Given the description of an element on the screen output the (x, y) to click on. 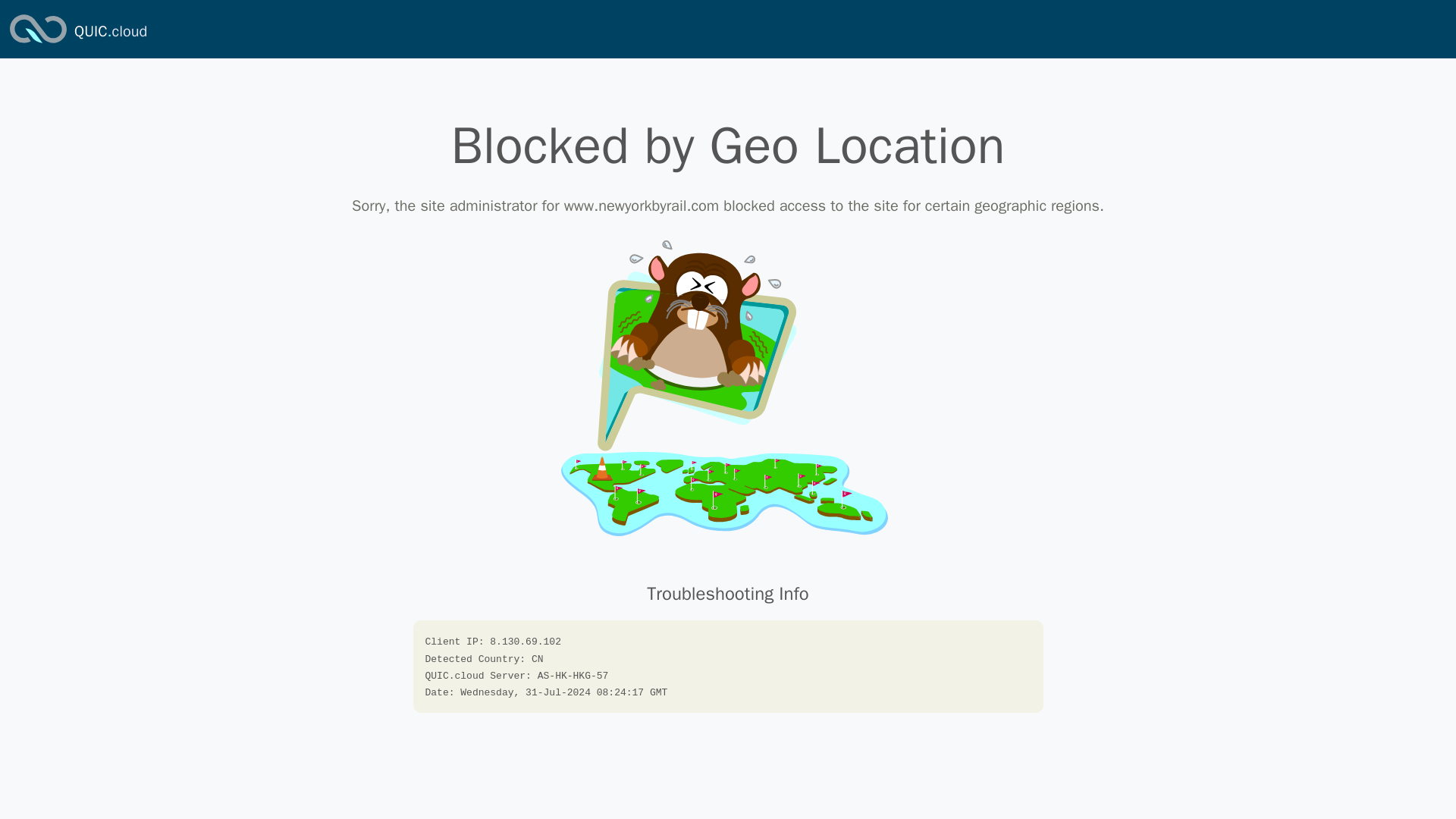
QUIC.cloud (37, 43)
QUIC.cloud (110, 31)
QUIC.cloud (110, 31)
